Given the description of an element on the screen output the (x, y) to click on. 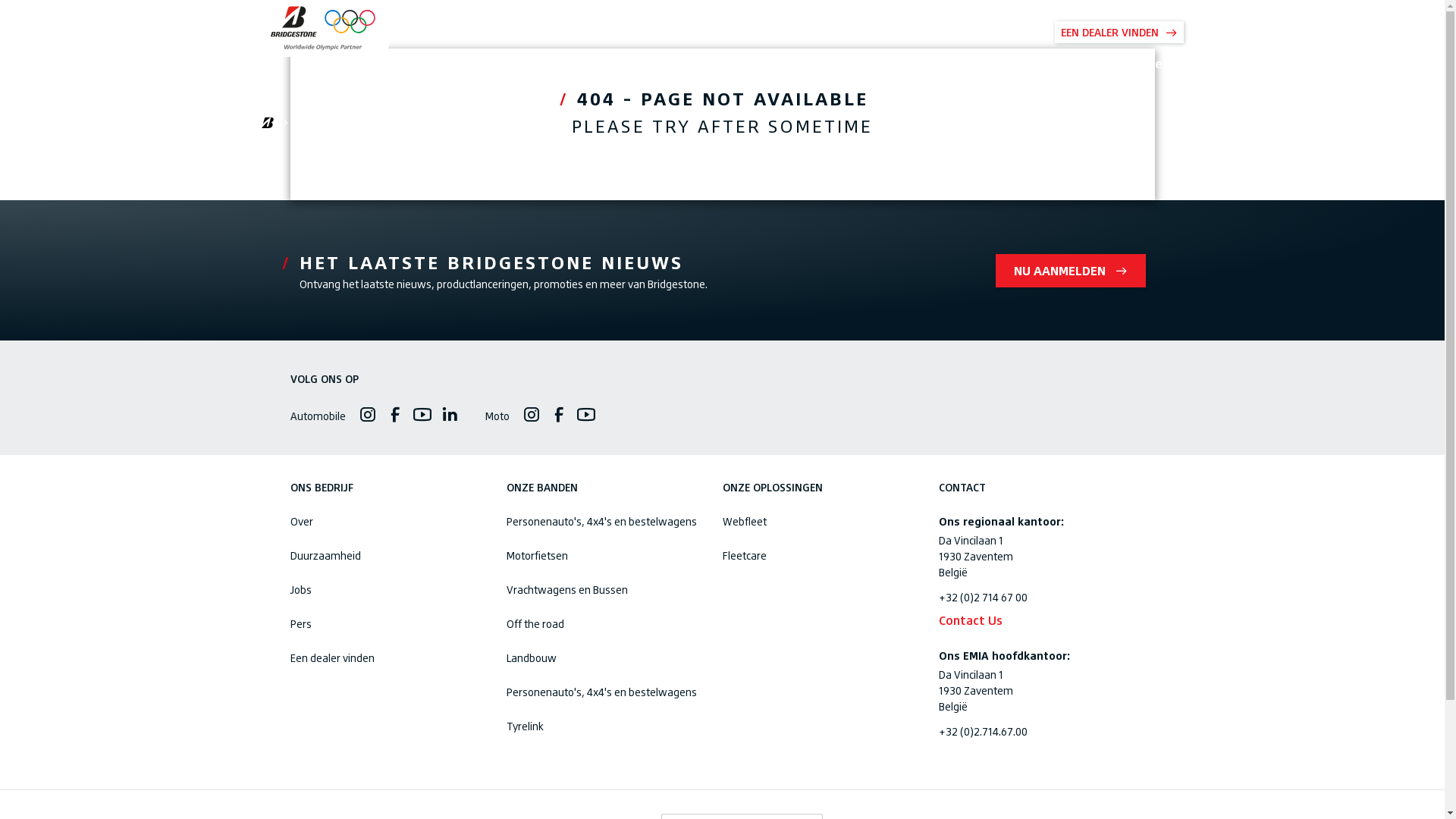
Fleetcare Element type: text (820, 555)
Tyrelink Element type: text (605, 726)
Personenauto's, 4x4's en bestelwagens Element type: text (605, 691)
CONTACT Element type: text (925, 31)
BESTELWAGEN Element type: text (1001, 31)
Off the road Element type: text (605, 623)
Webfleet Element type: text (820, 521)
Motorfietsen Element type: text (605, 555)
Onze oplossingen Element type: text (1124, 63)
NU AANMELDEN Element type: text (1069, 269)
EEN DEALER VINDEN Element type: text (1118, 32)
Duurzaamheid Element type: text (388, 555)
Pers Element type: text (388, 623)
Onze Producten Element type: text (994, 63)
PERS Element type: text (872, 31)
+32 (0)2.714.67.00 Element type: text (1037, 731)
Personenauto's, 4x4's en bestelwagens Element type: text (605, 521)
Contact Us Element type: text (1037, 620)
Over Element type: text (388, 521)
Een dealer vinden Element type: text (388, 657)
NL Element type: text (740, 31)
+32 (0)2 714 67 00 Element type: text (1037, 597)
Jobs Element type: text (388, 589)
Vrachtwagens en Bussen Element type: text (605, 589)
ONS BEDRIJF Element type: text (806, 31)
Landbouw Element type: text (605, 657)
